Given the description of an element on the screen output the (x, y) to click on. 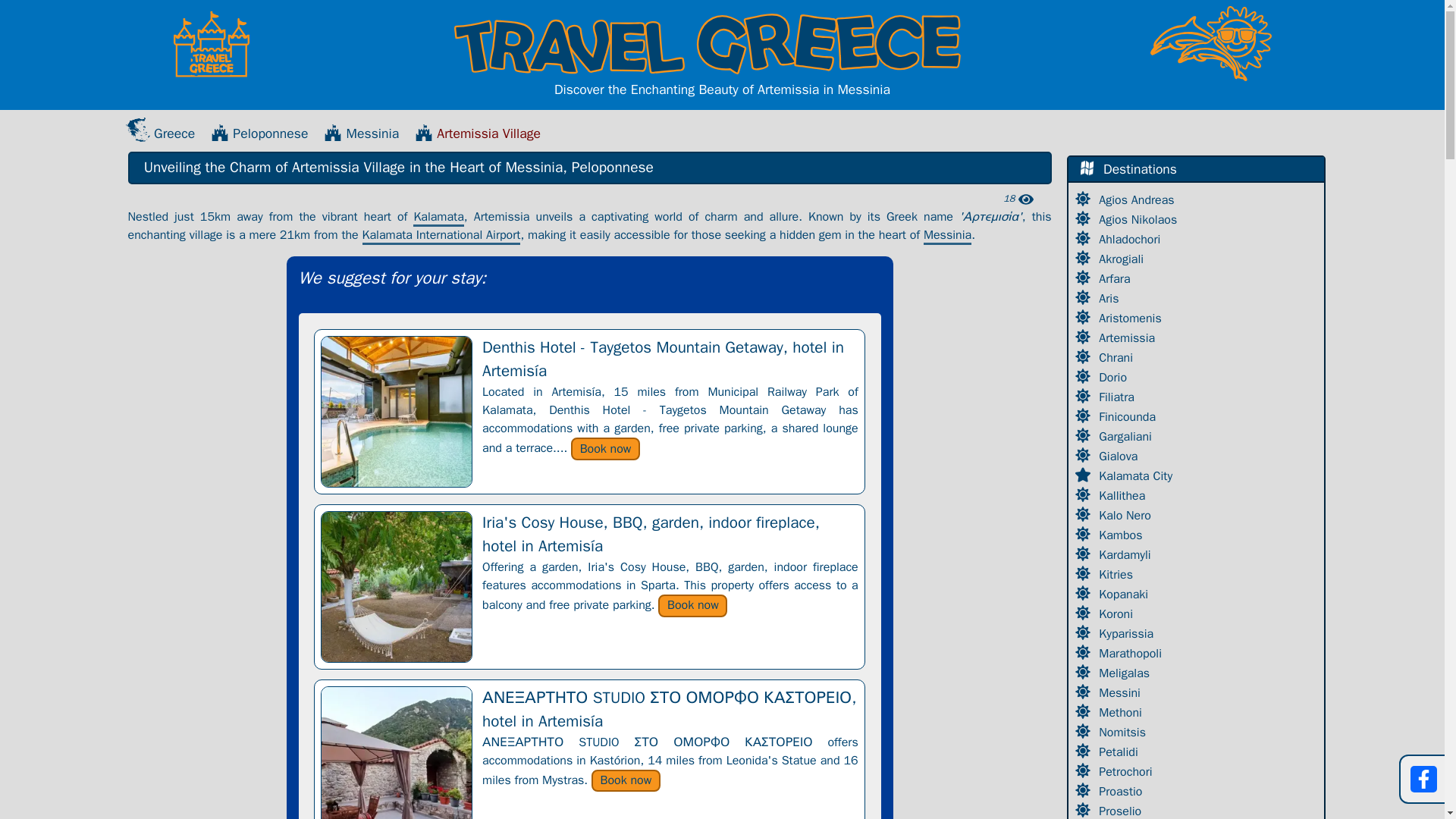
Kalamata International Airport (441, 235)
Peloponnese (259, 133)
Ahladochori (1131, 239)
Greece (160, 133)
Messinia (361, 133)
Agios Nikolaos (1139, 219)
Messinia (947, 235)
Agios Andreas (1138, 200)
Kalamata (438, 217)
